Given the description of an element on the screen output the (x, y) to click on. 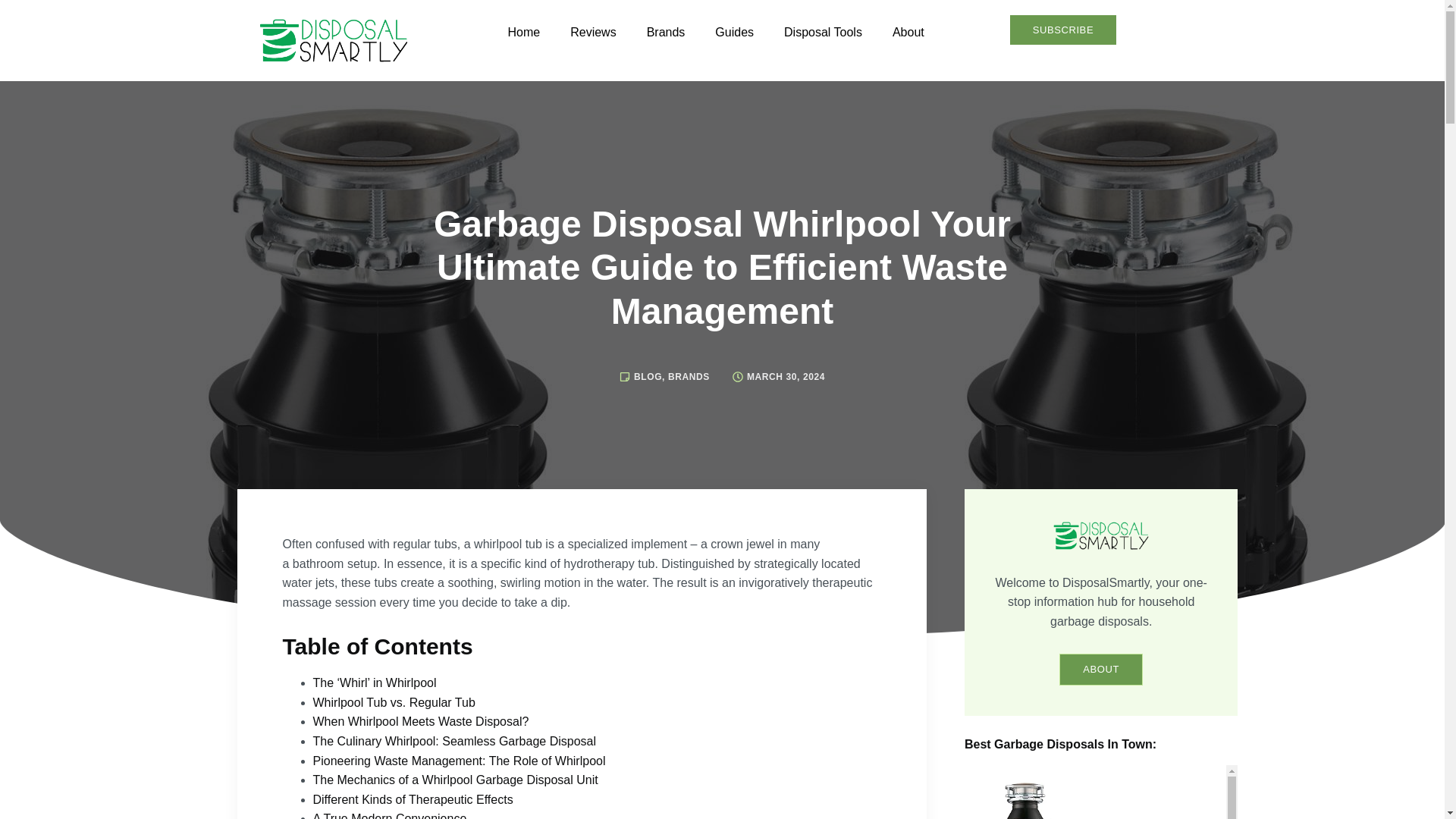
The Mechanics of a Whirlpool Garbage Disposal Unit  (457, 779)
ABOUT (1100, 668)
SUBSCRIBE (1063, 30)
Pioneering Waste Management: The Role of Whirlpool  (460, 760)
Different Kinds of Therapeutic Effects  (414, 799)
BRANDS (689, 376)
When Whirlpool Meets Waste Disposal? (420, 721)
The Culinary Whirlpool: Seamless Garbage Disposal  (455, 740)
Disposal Tools (822, 32)
Whirlpool Tub vs. Regular Tub  (396, 702)
